Given the description of an element on the screen output the (x, y) to click on. 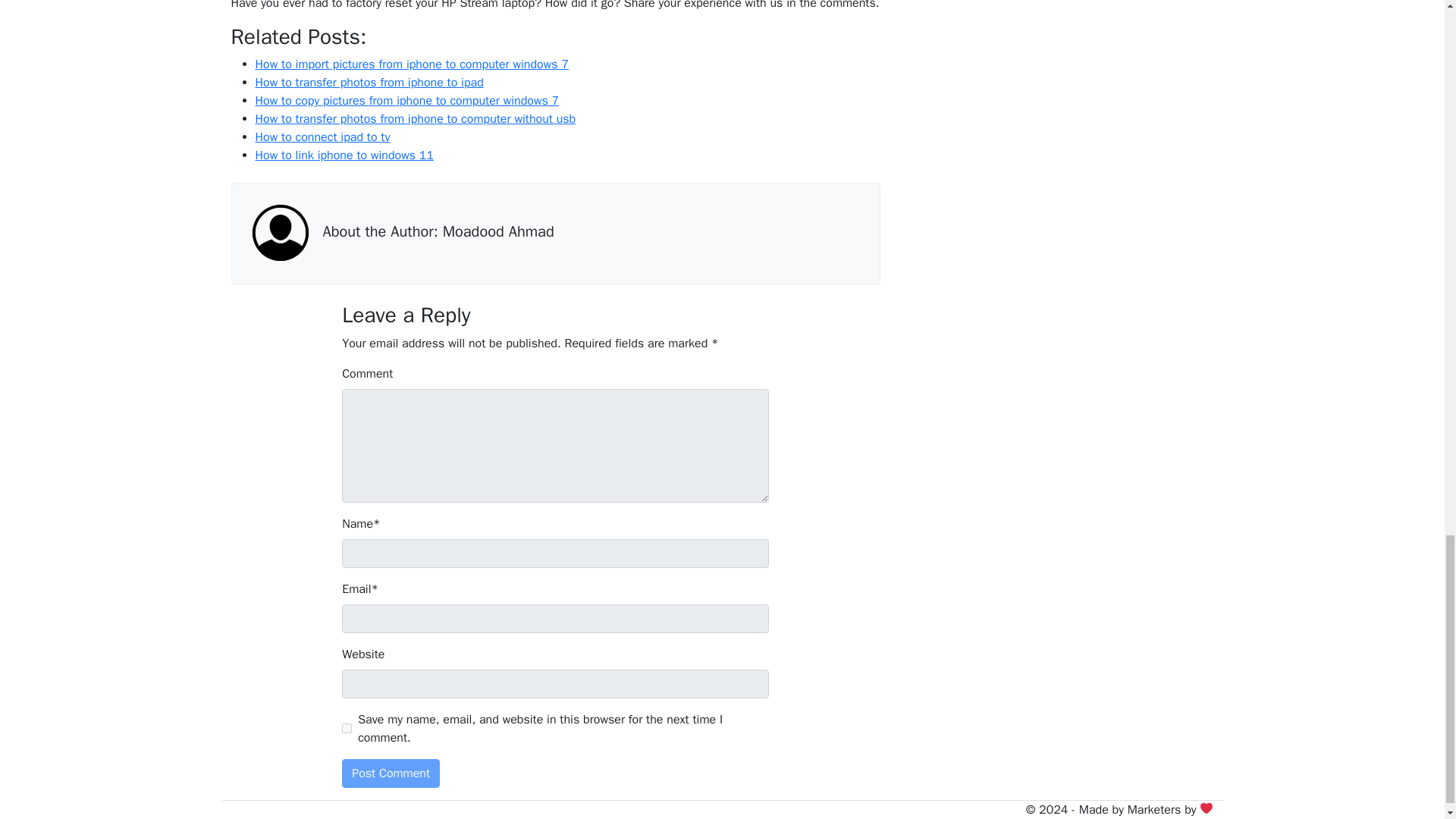
How to copy pictures from iphone to computer windows 7 (406, 100)
yes (347, 728)
How to transfer photos from iphone to ipad (368, 82)
How to link iphone to windows 11 (343, 155)
Post Comment (390, 773)
Post Comment (390, 773)
How to transfer photos from iphone to computer without usb (414, 118)
How to connect ipad to tv (322, 136)
How to import pictures from iphone to computer windows 7 (410, 64)
